Given the description of an element on the screen output the (x, y) to click on. 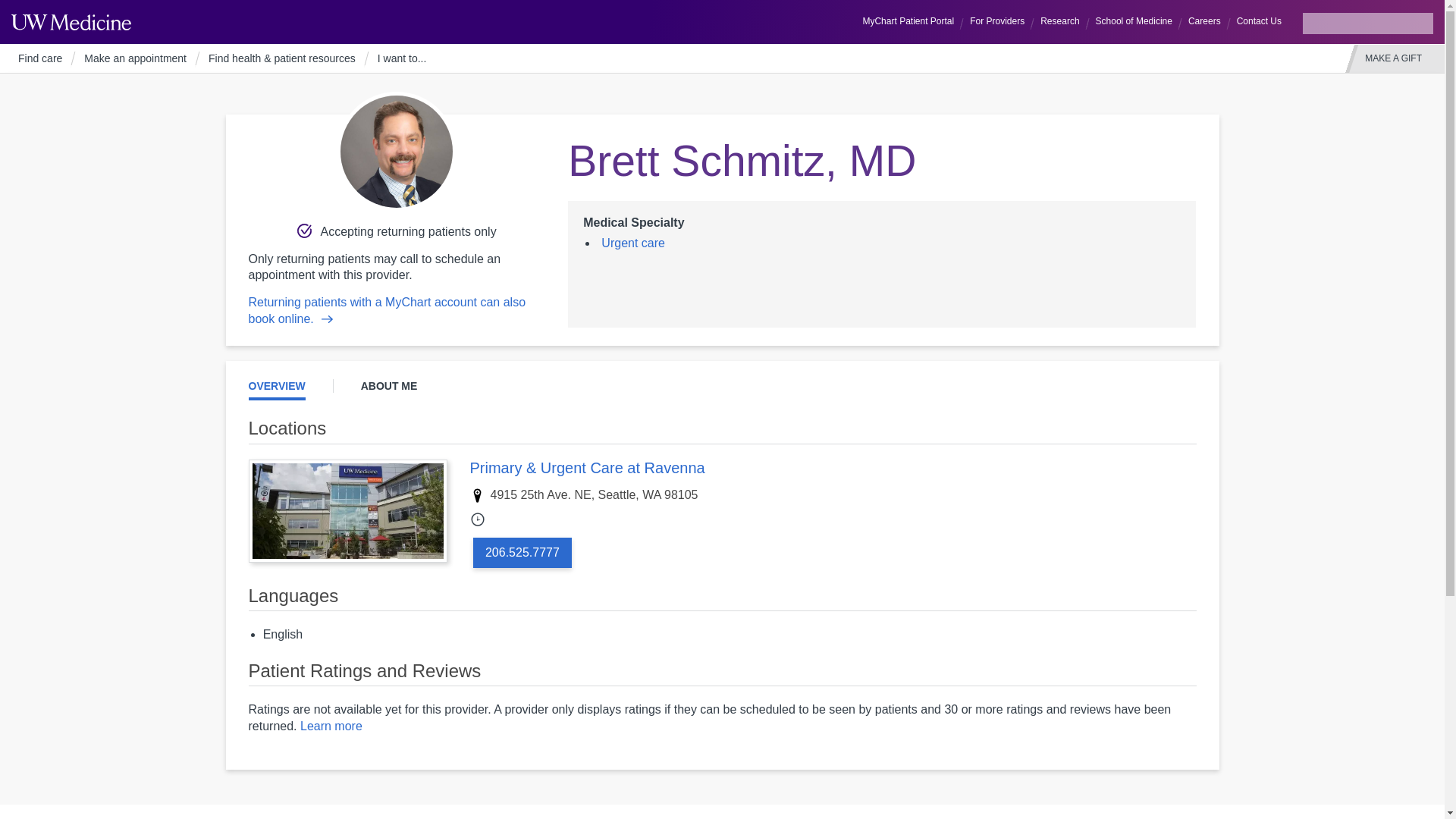
Careers (1204, 21)
Make an appointment (135, 58)
School of Medicine (1133, 21)
For Providers (996, 21)
Contact Us (1258, 21)
Research (1058, 21)
Home (71, 21)
MyChart Patient Portal (907, 21)
Find care (39, 58)
I want to... (401, 58)
